Given the description of an element on the screen output the (x, y) to click on. 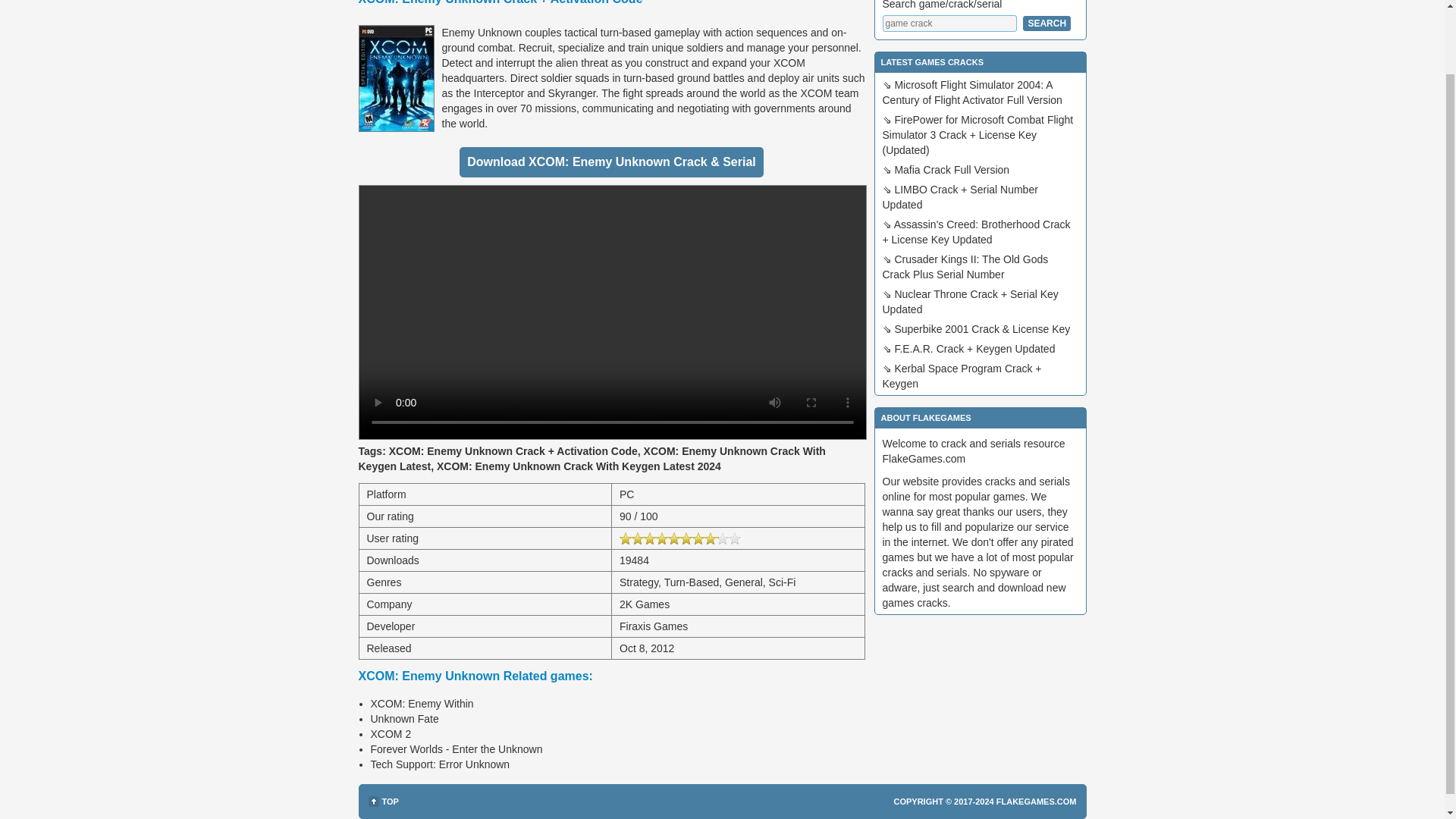
TOP (383, 801)
Mafia Crack Full Version (951, 169)
Unknown Fate (403, 718)
Crusader Kings II: The Old Gods Crack Plus Serial Number (965, 266)
XCOM 2 (389, 734)
Search (1046, 23)
XCOM: Enemy Within (421, 703)
Forever Worlds - Enter the Unknown (455, 748)
8.2 (680, 538)
FLAKEGAMES.COM (1036, 800)
Tech Support: Error Unknown (439, 764)
Search (1046, 23)
